Given the description of an element on the screen output the (x, y) to click on. 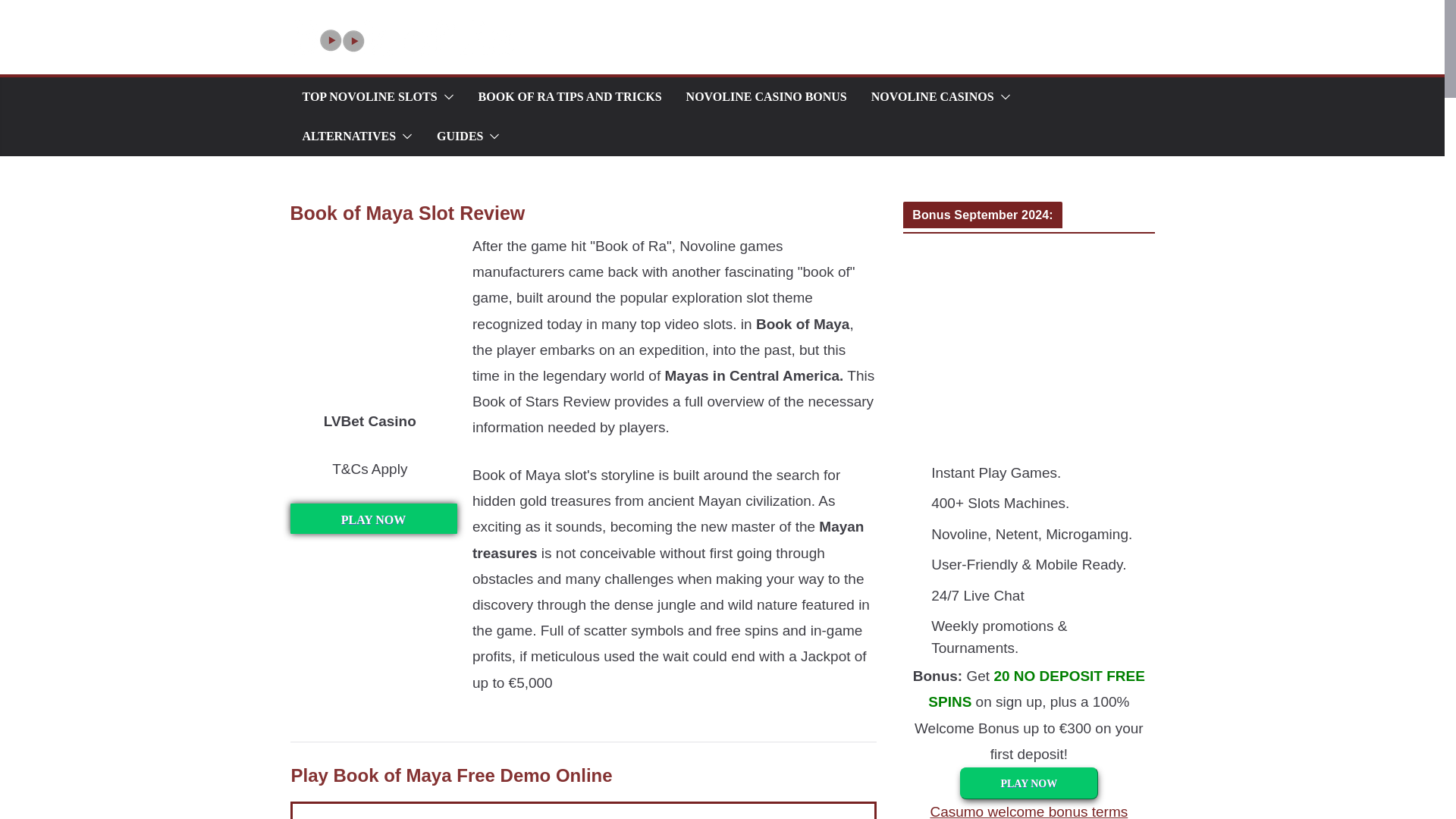
ALTERNATIVES (348, 136)
TOP NOVOLINE SLOTS (368, 96)
GUIDES (459, 136)
NOVOLINE CASINOS (932, 96)
BOOK OF RA TIPS AND TRICKS (570, 96)
NOVOLINE CASINO BONUS (766, 96)
